Given the description of an element on the screen output the (x, y) to click on. 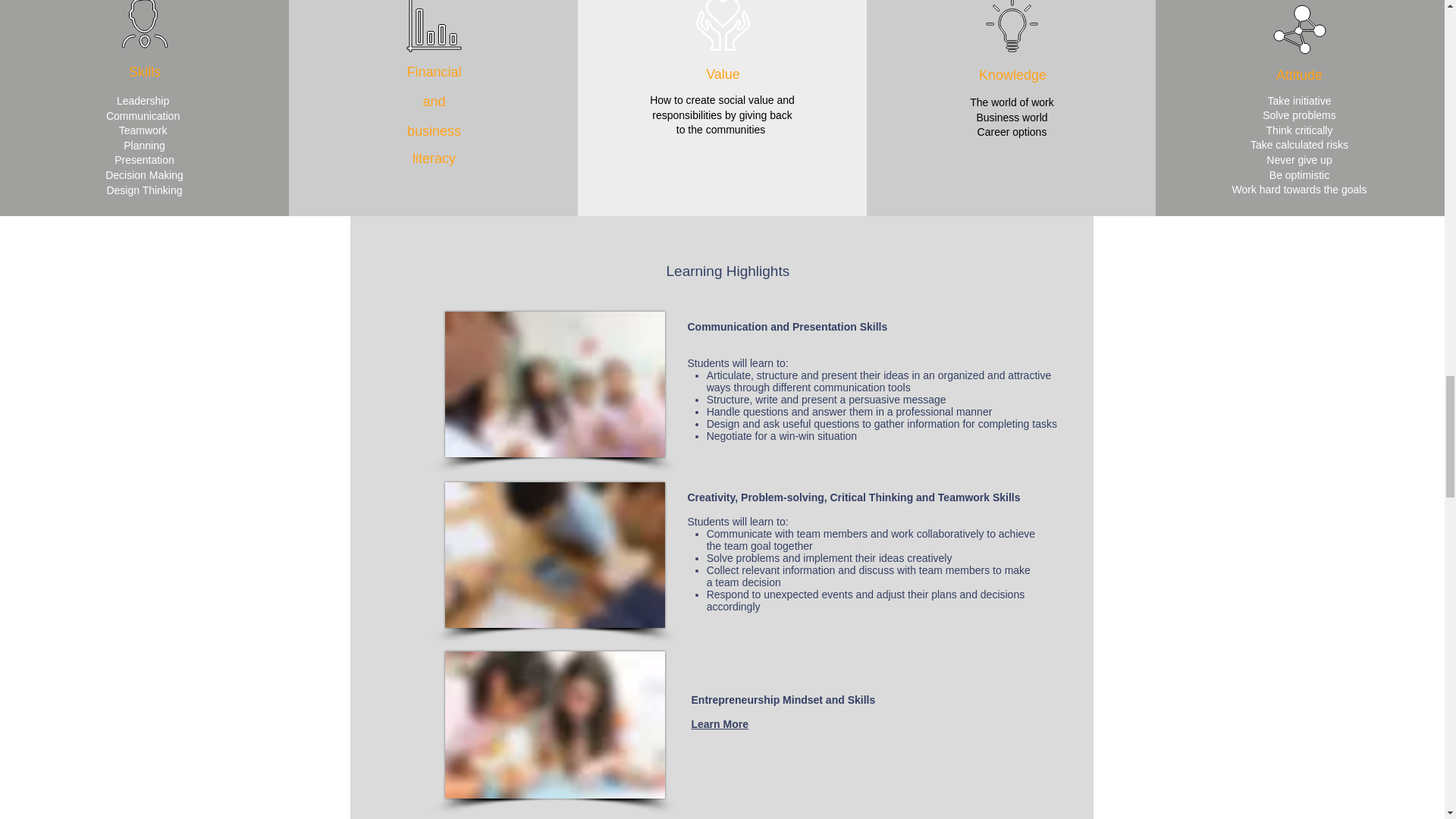
Learn More (719, 724)
DSC07972.jpg (553, 555)
DSC07996.jpg (553, 724)
DSC08123.jpg (553, 384)
